Given the description of an element on the screen output the (x, y) to click on. 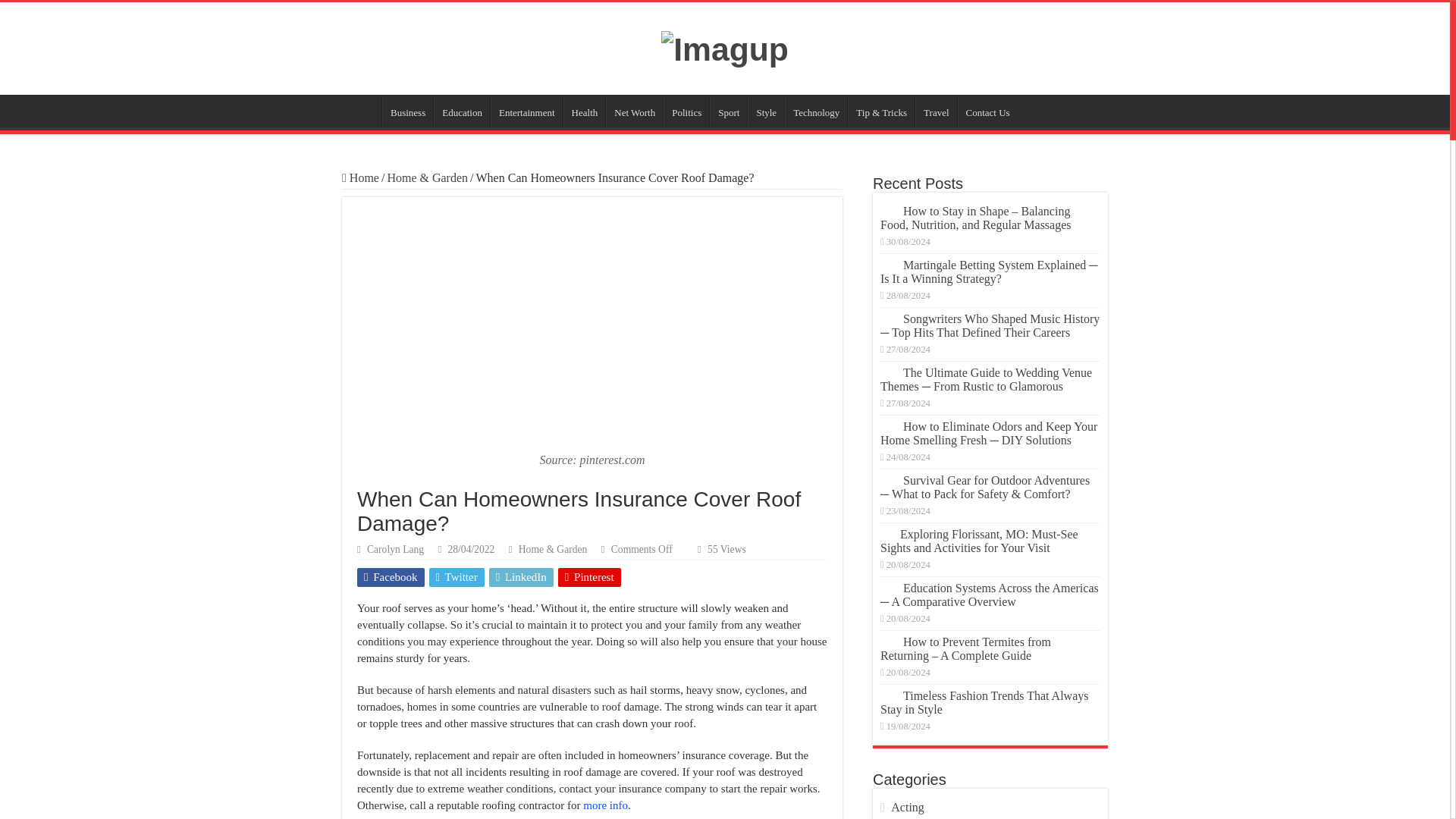
Technology (815, 110)
Net Worth (633, 110)
LinkedIn (521, 577)
Health (584, 110)
Business (406, 110)
Sport (728, 110)
Entertainment (526, 110)
Twitter (456, 577)
Facebook (390, 577)
Carolyn Lang (394, 549)
